Given the description of an element on the screen output the (x, y) to click on. 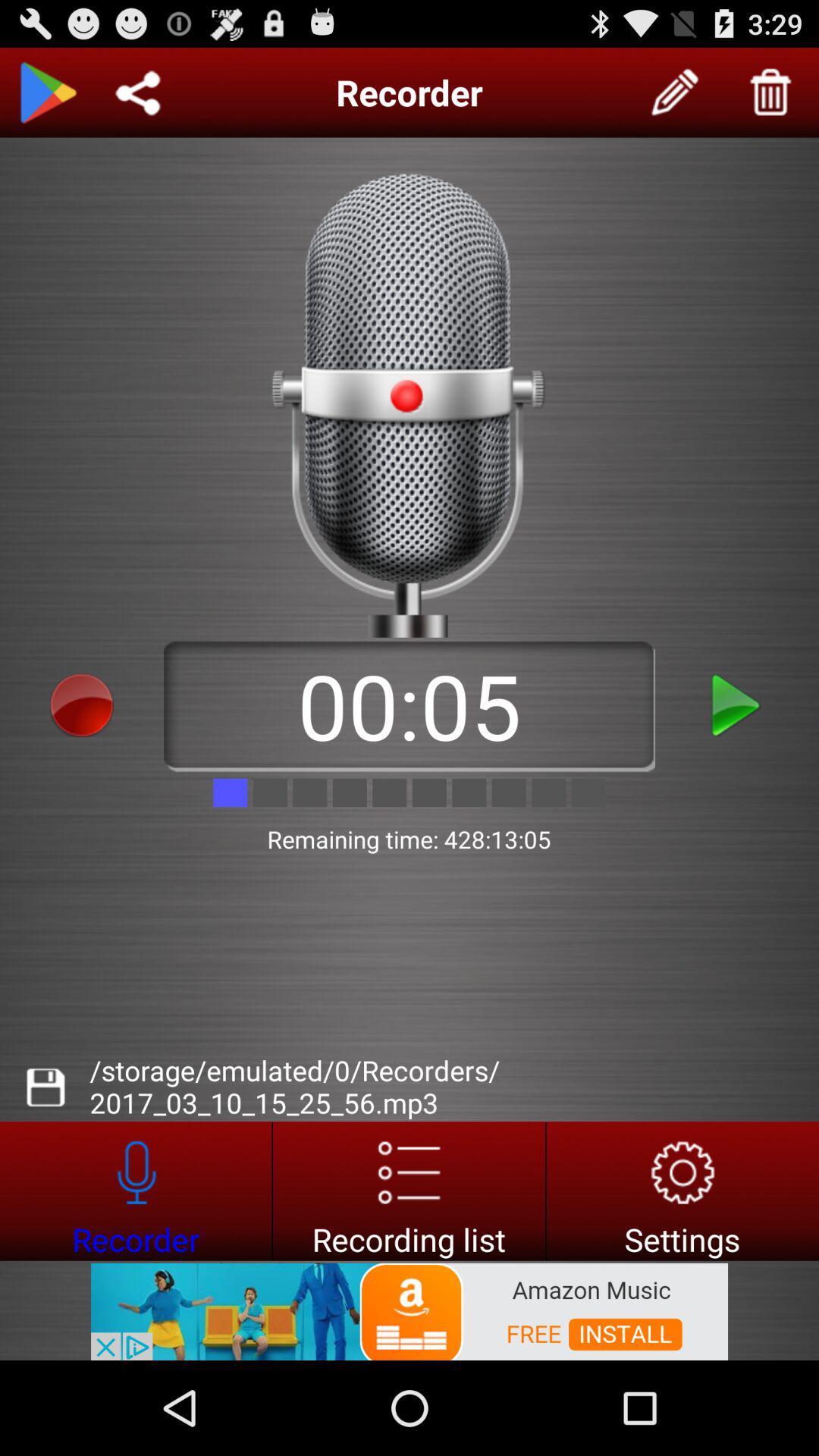
edit recorder (675, 92)
